Given the description of an element on the screen output the (x, y) to click on. 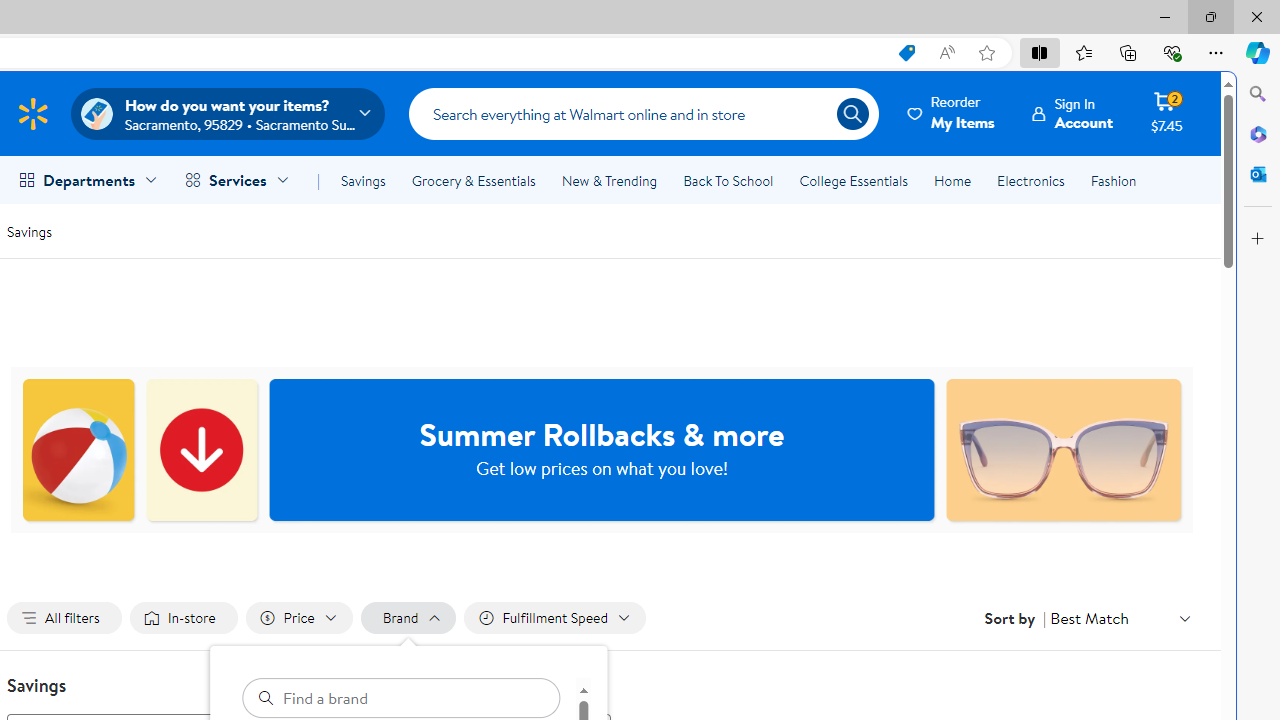
Savings (29, 230)
Filter by In-store (183, 618)
New & Trending (608, 180)
Grocery & Essentials (473, 180)
Class: ld ld-ChevronDown pa0 ml6 (1184, 618)
Summer Rollbacks & more Get low prices on what you love! (601, 449)
